Given the description of an element on the screen output the (x, y) to click on. 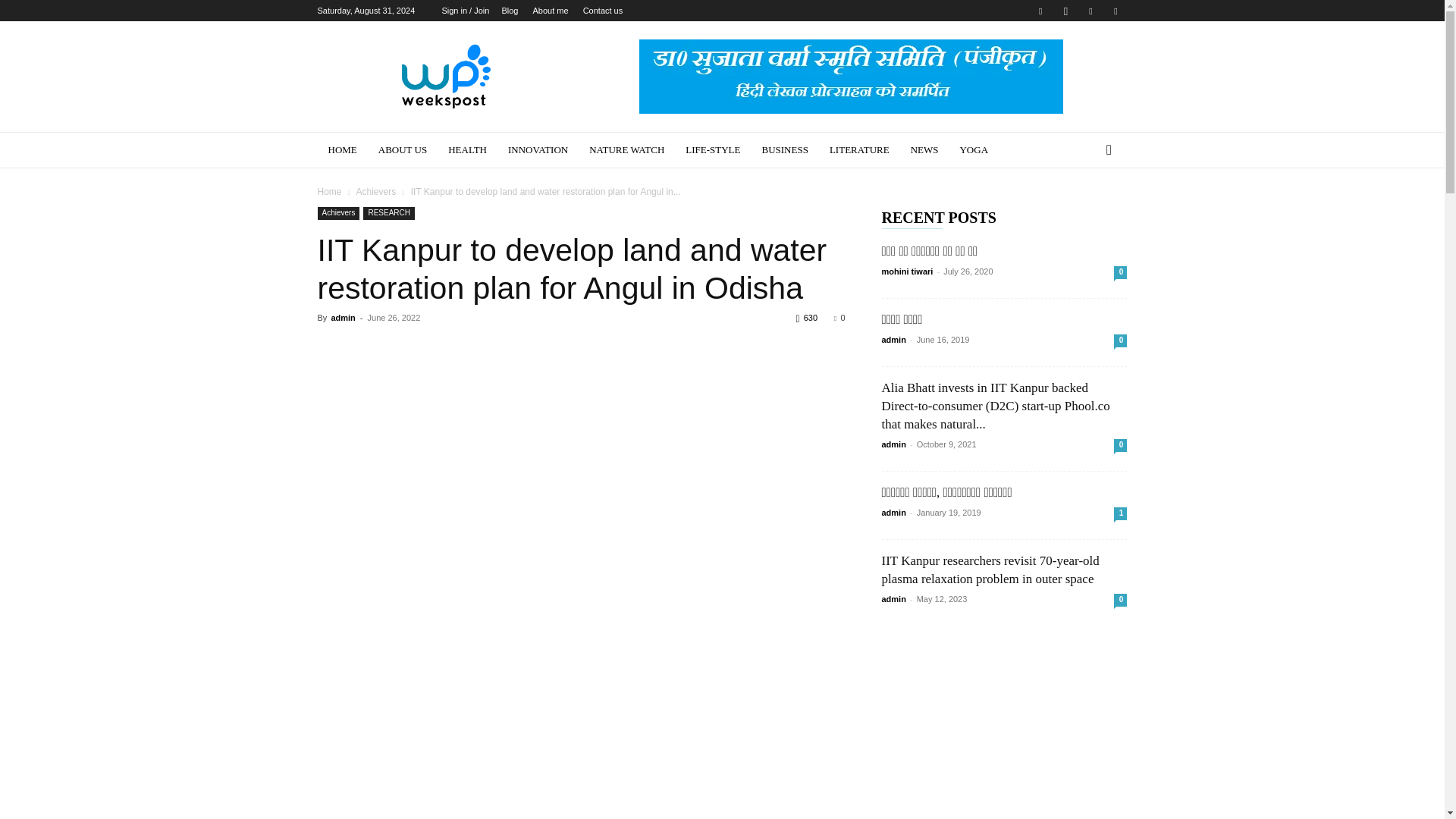
About me (549, 10)
Facebook (1040, 10)
HOME (341, 149)
Contact us (603, 10)
Youtube (1114, 10)
Instagram (1065, 10)
Twitter (1090, 10)
Blog (509, 10)
ABOUT US (403, 149)
View all posts in Achievers (375, 191)
